Given the description of an element on the screen output the (x, y) to click on. 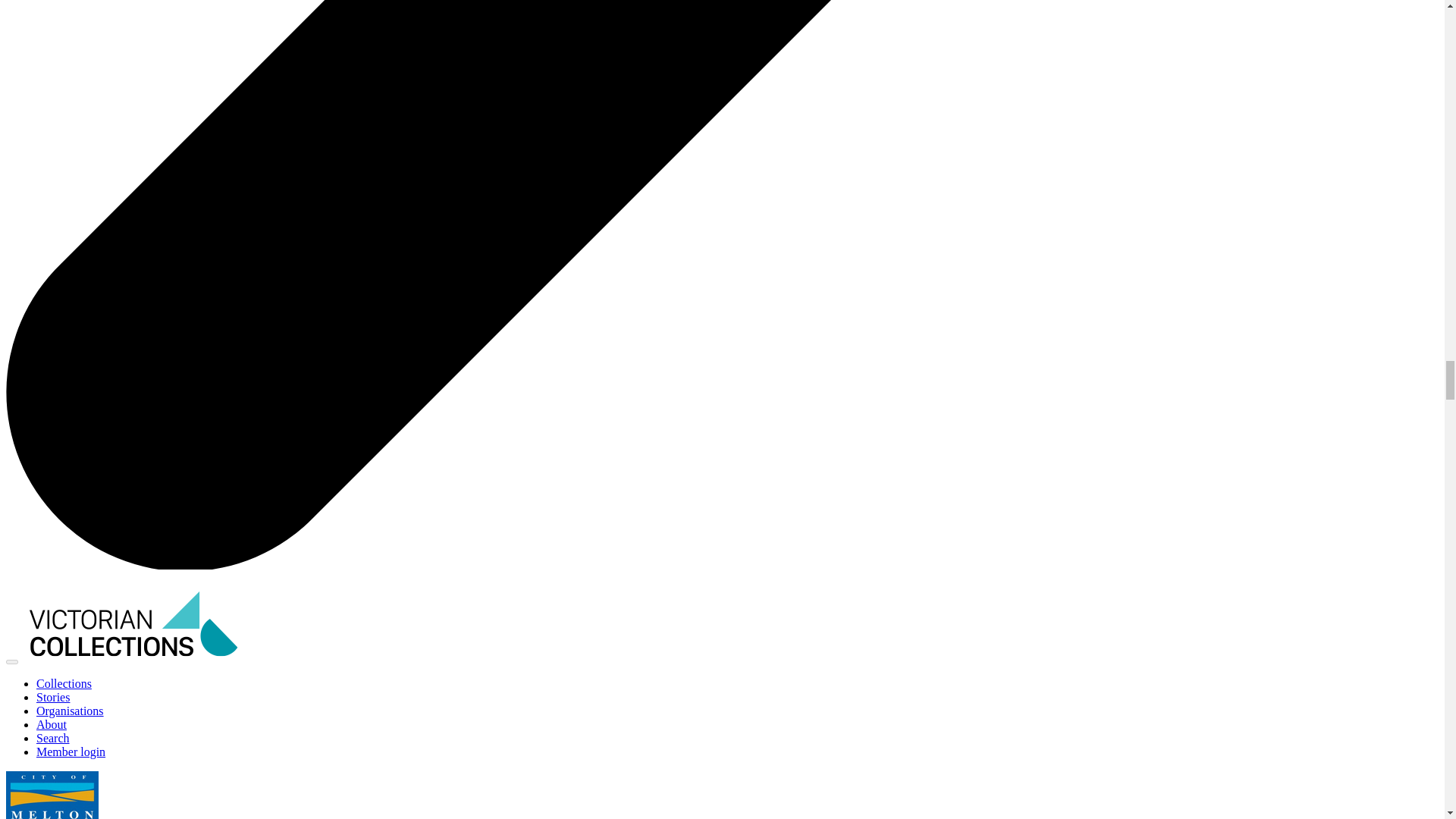
Member login (70, 751)
About (51, 724)
Organisations (69, 710)
Search (52, 738)
Collections (63, 683)
Stories (52, 697)
